Given the description of an element on the screen output the (x, y) to click on. 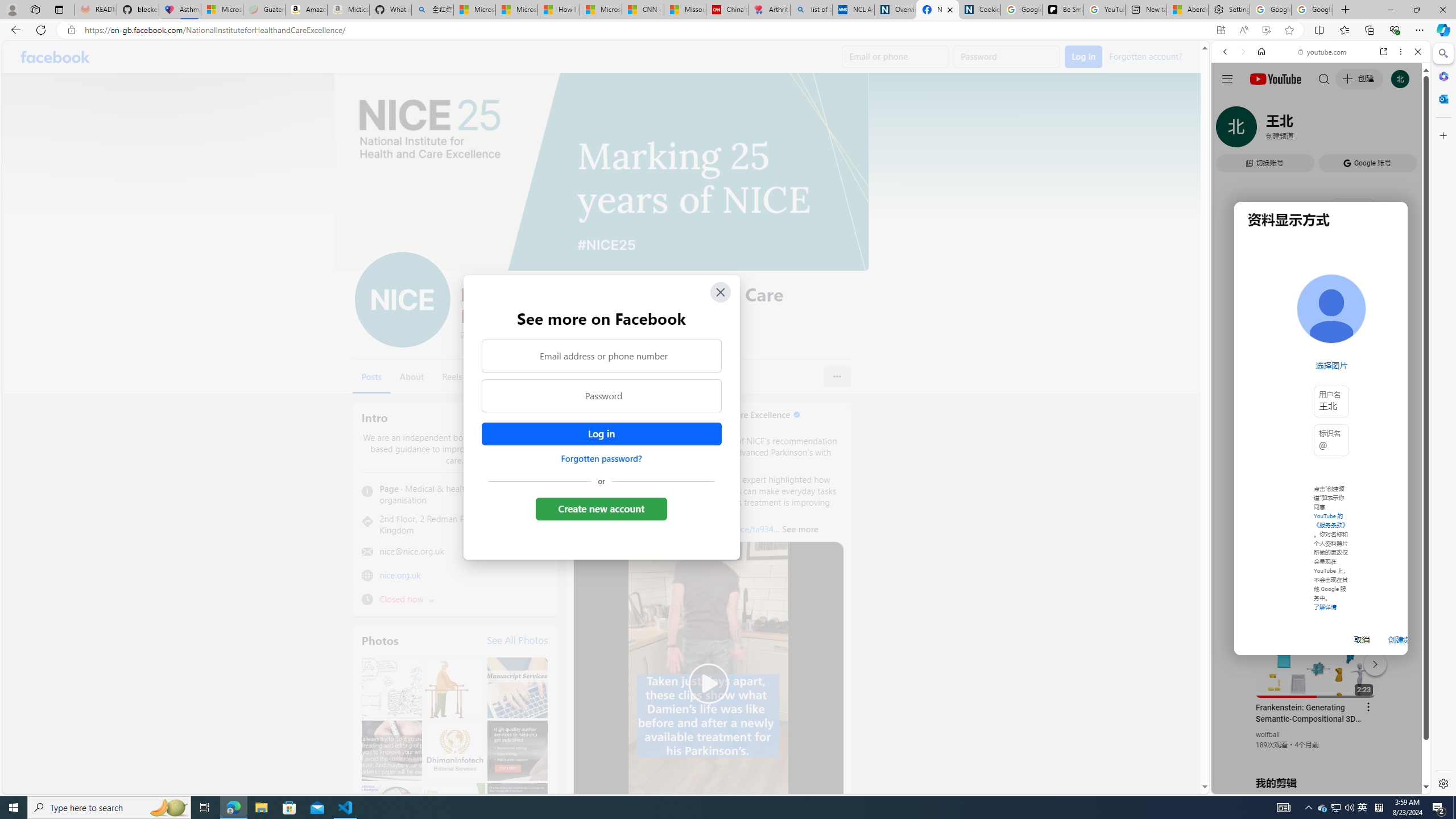
Facebook (55, 56)
Facebook (55, 56)
